Given the description of an element on the screen output the (x, y) to click on. 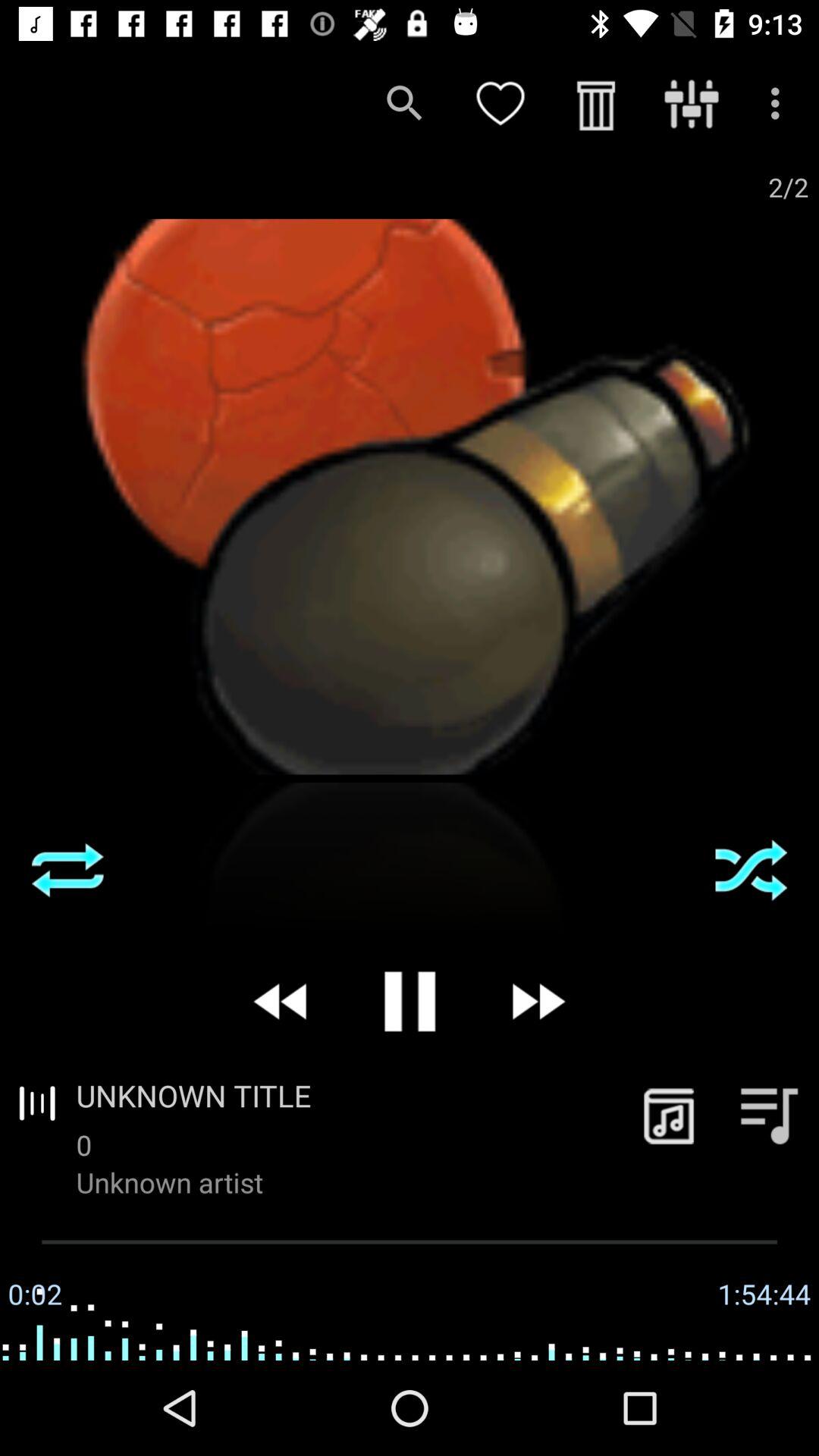
music (668, 1115)
